Given the description of an element on the screen output the (x, y) to click on. 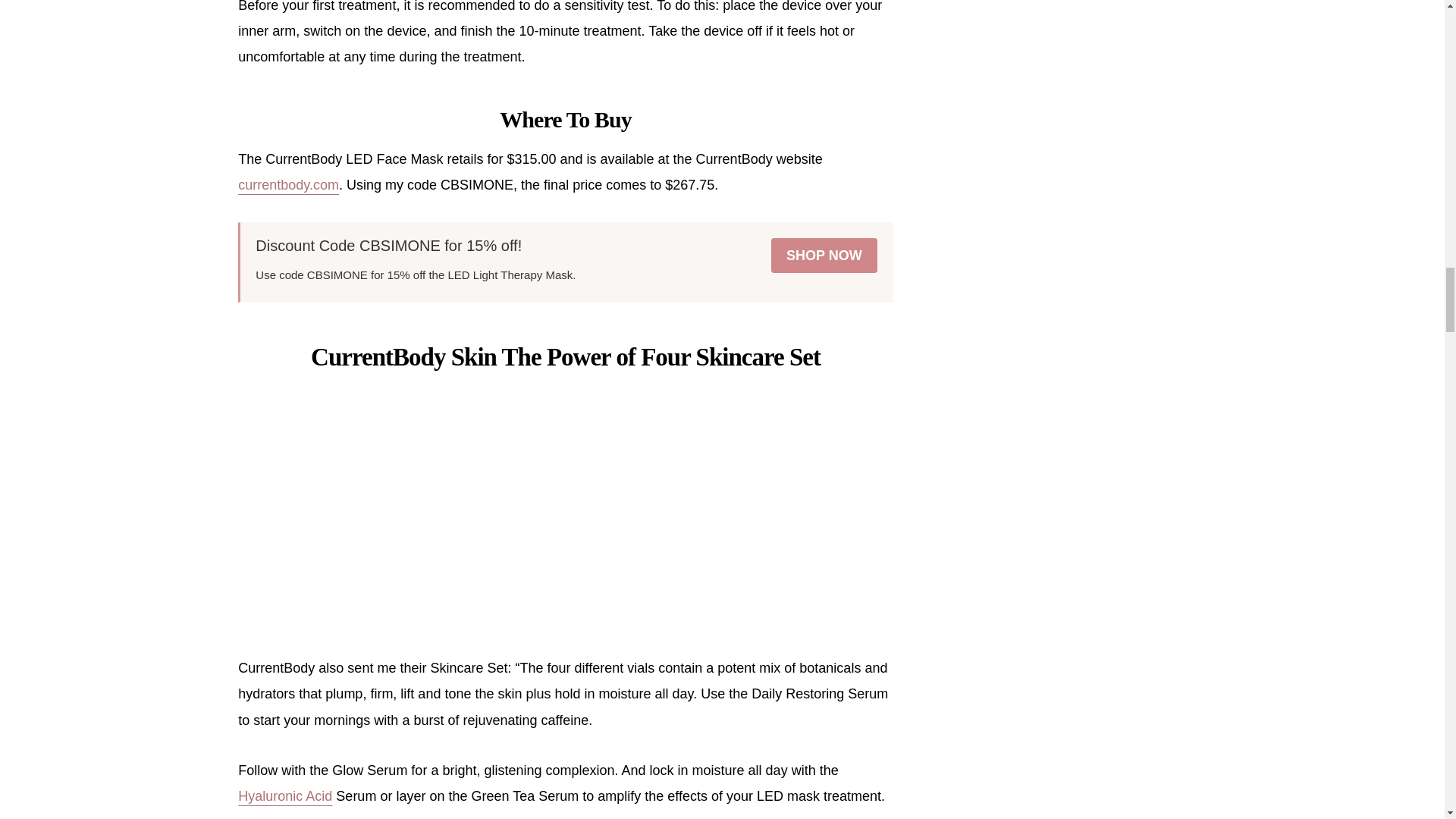
Hyaluronic Acid (284, 795)
